Given the description of an element on the screen output the (x, y) to click on. 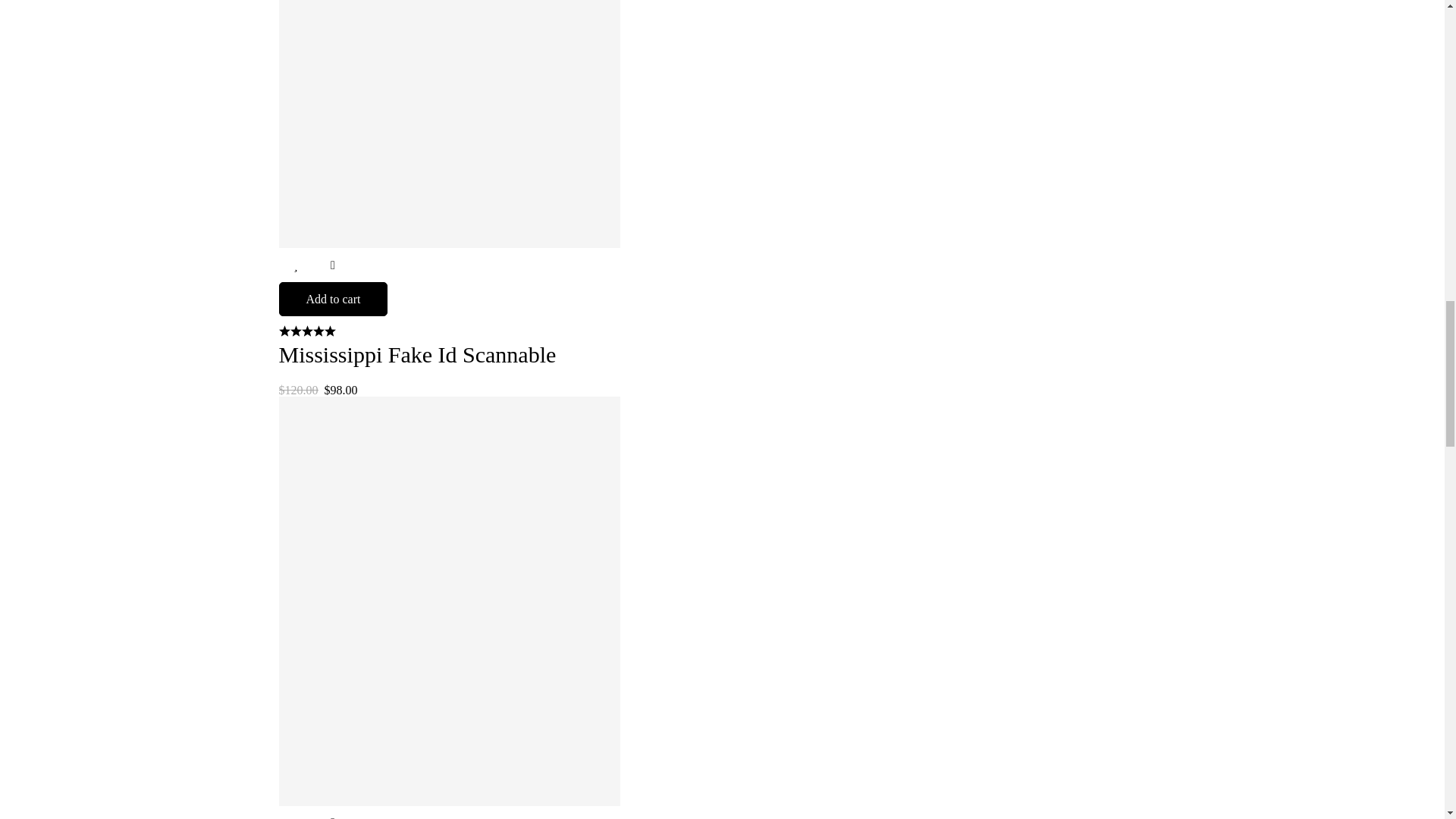
Add to wishlist (296, 812)
Mississippi Fake Id Scannable (417, 354)
Add to cart (333, 298)
Quick view (332, 812)
Quick view (332, 264)
Add to wishlist (296, 264)
